Given the description of an element on the screen output the (x, y) to click on. 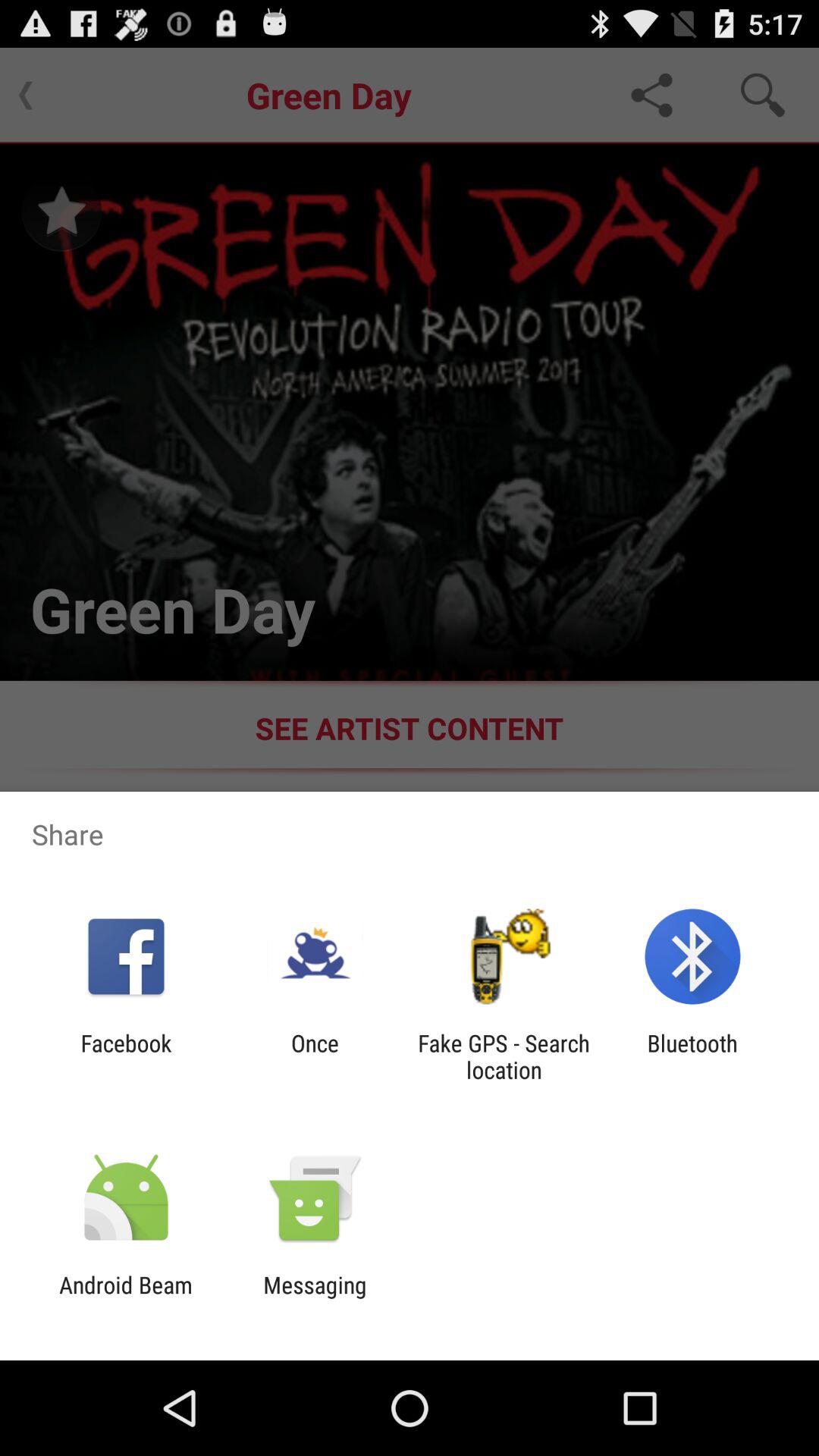
flip until the android beam icon (125, 1298)
